Given the description of an element on the screen output the (x, y) to click on. 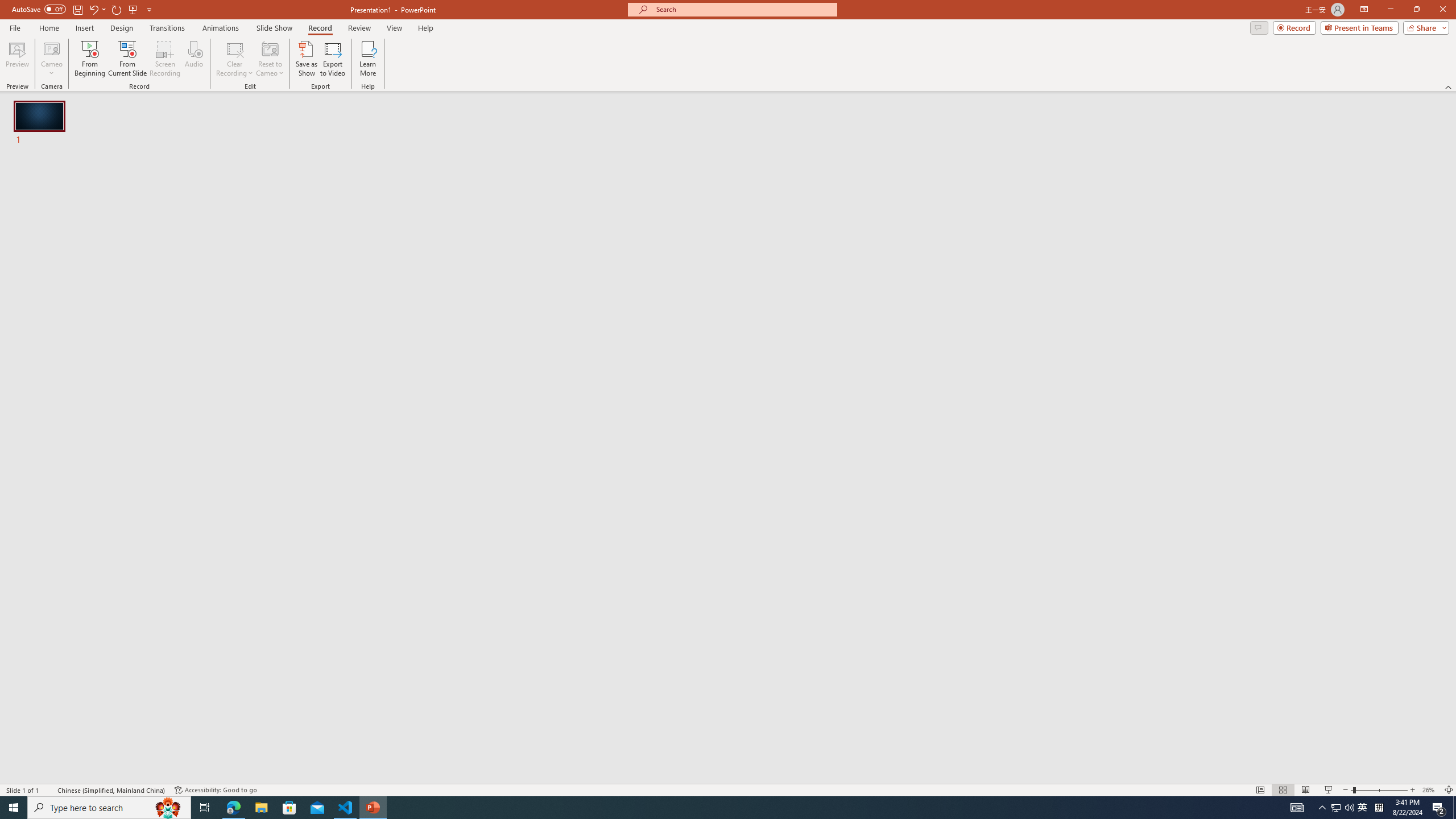
Class: MsoCommandBar (728, 789)
Insert (83, 28)
Transitions (167, 28)
Accessibility Checker Accessibility: Good to go (216, 790)
Quick Access Toolbar (82, 9)
Redo (117, 9)
From Beginning... (89, 58)
Microsoft search (742, 9)
File Tab (15, 27)
Review (359, 28)
Learn More (368, 58)
Animations (220, 28)
